Given the description of an element on the screen output the (x, y) to click on. 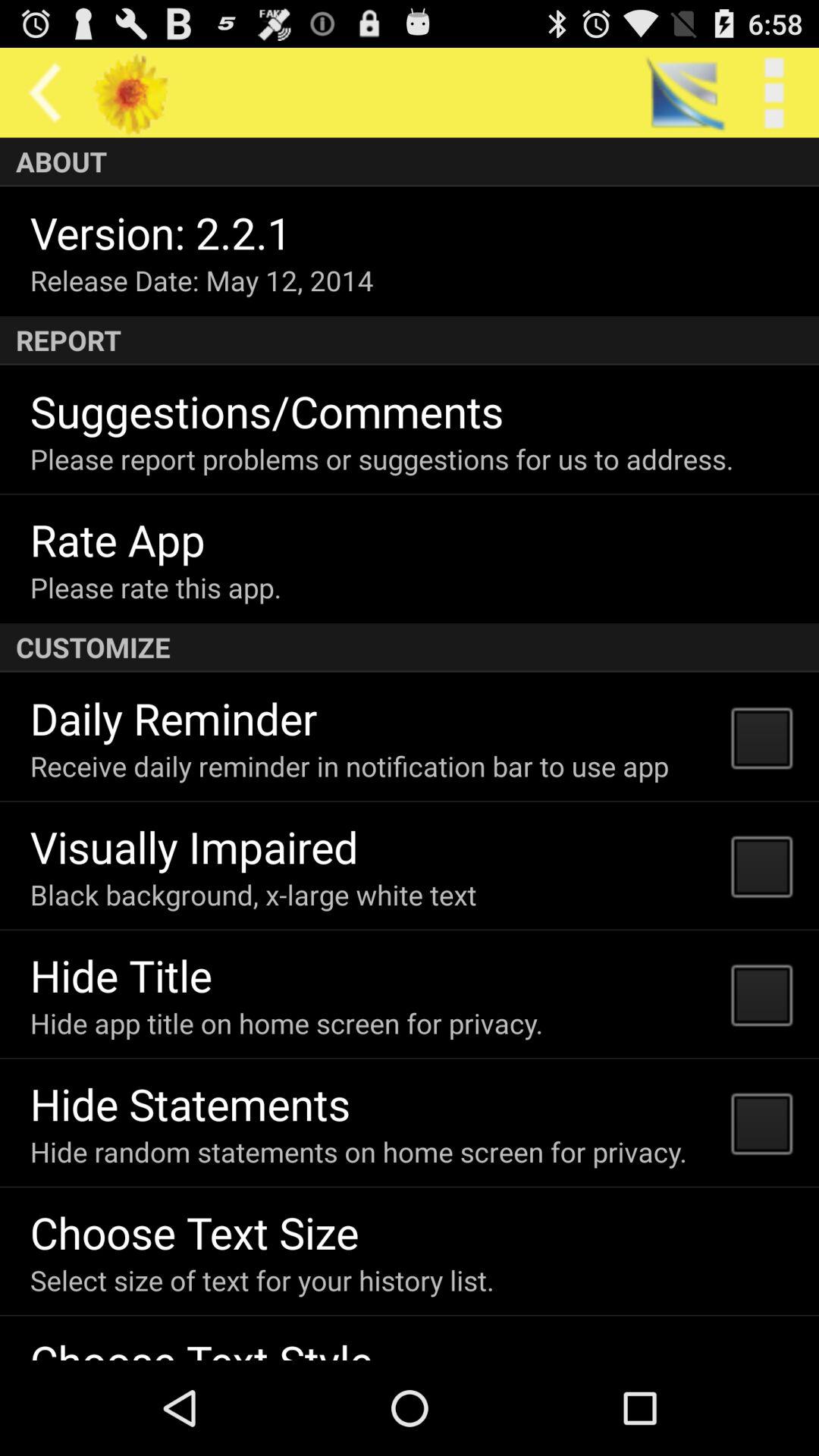
scroll until the select size of icon (262, 1280)
